Given the description of an element on the screen output the (x, y) to click on. 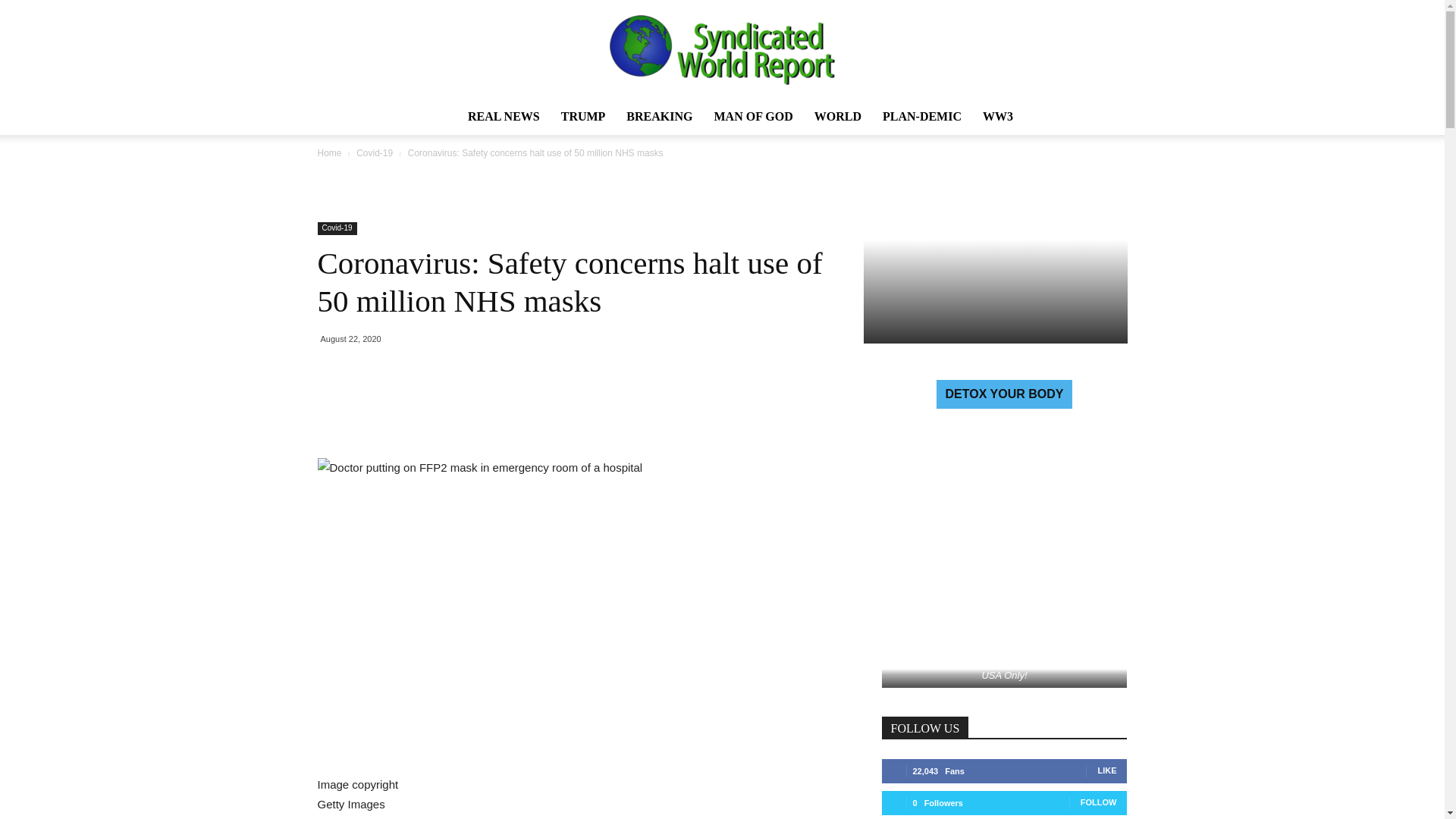
REAL NEWS (503, 116)
WORLD (837, 116)
View all posts in Covid-19 (374, 153)
PLAN-DEMIC (922, 116)
TRUMP (582, 116)
MAN OF GOD (753, 116)
BREAKING (659, 116)
WW3 (997, 116)
